Given the description of an element on the screen output the (x, y) to click on. 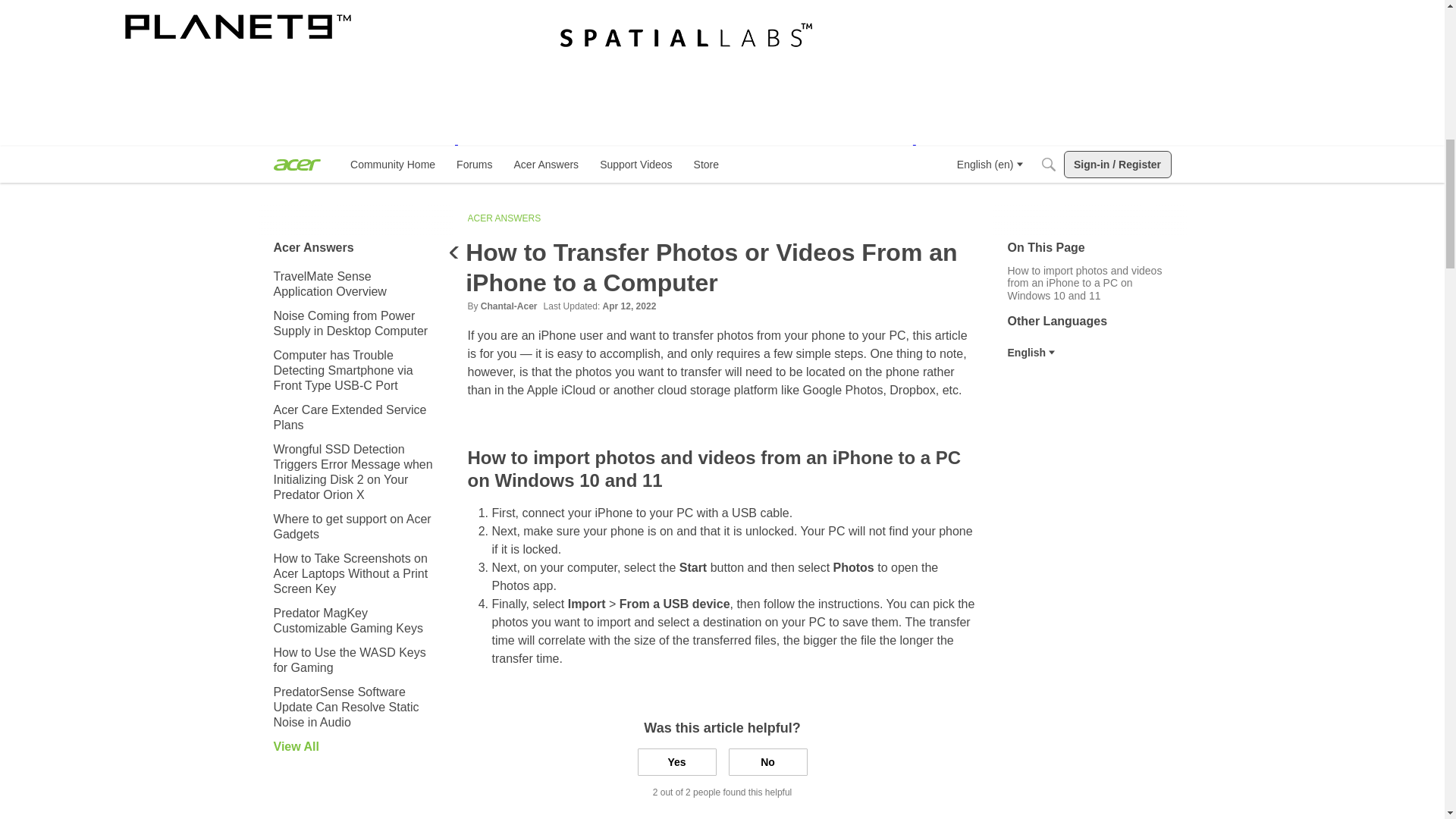
TravelMate Sense Application Overview (354, 283)
Apr 12, 2022 (629, 306)
Predator MagKey Customizable Gaming Keys (354, 620)
Acer Answers (546, 164)
Store (706, 164)
Where to get support on Acer Gadgets (354, 526)
No (767, 761)
View All (354, 746)
Support Videos (636, 164)
ACER ANSWERS (503, 218)
How to Use the WASD Keys for Gaming (1030, 352)
